Given the description of an element on the screen output the (x, y) to click on. 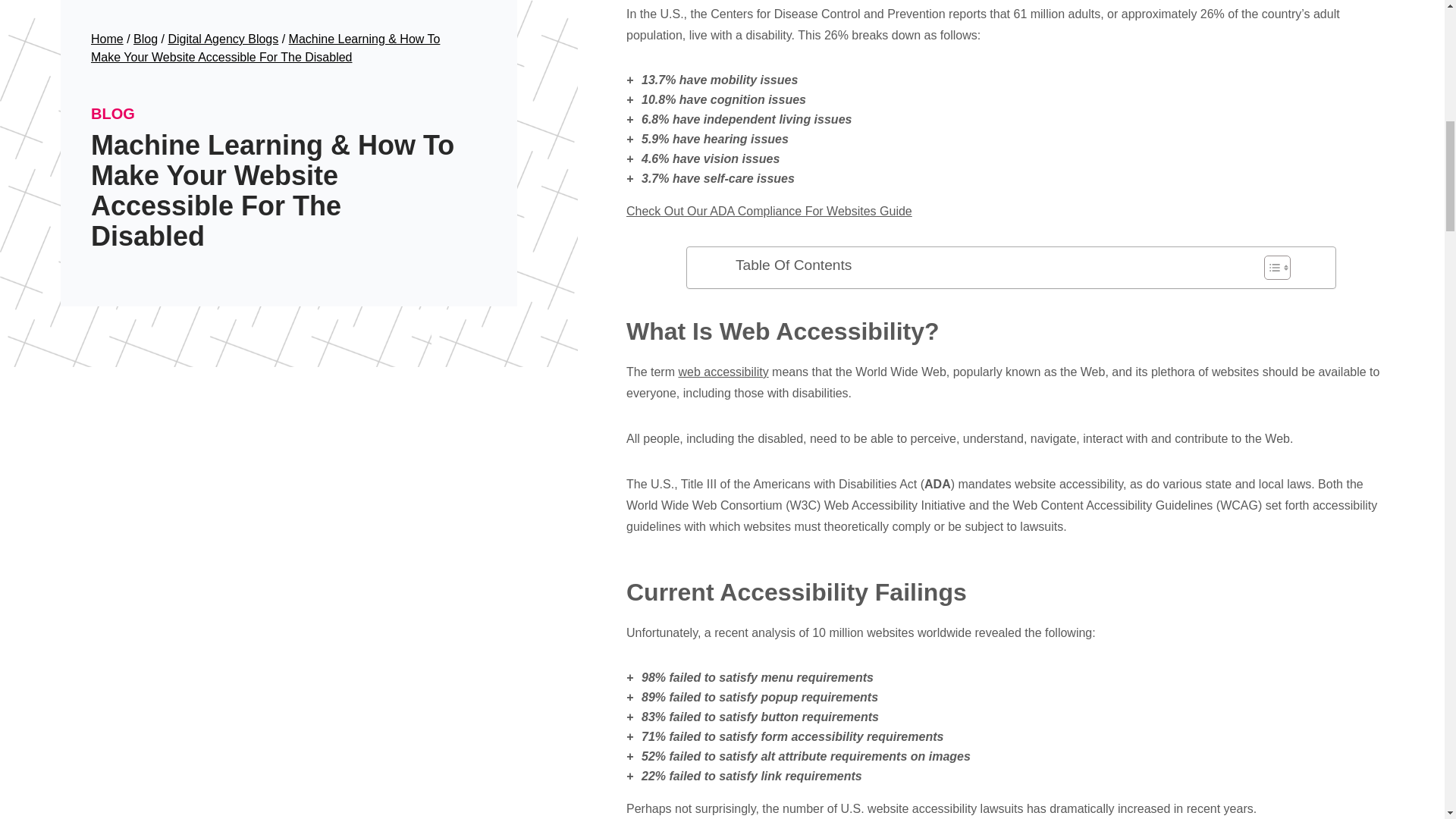
Check Out Our ADA Compliance For Websites Guide (769, 210)
